Given the description of an element on the screen output the (x, y) to click on. 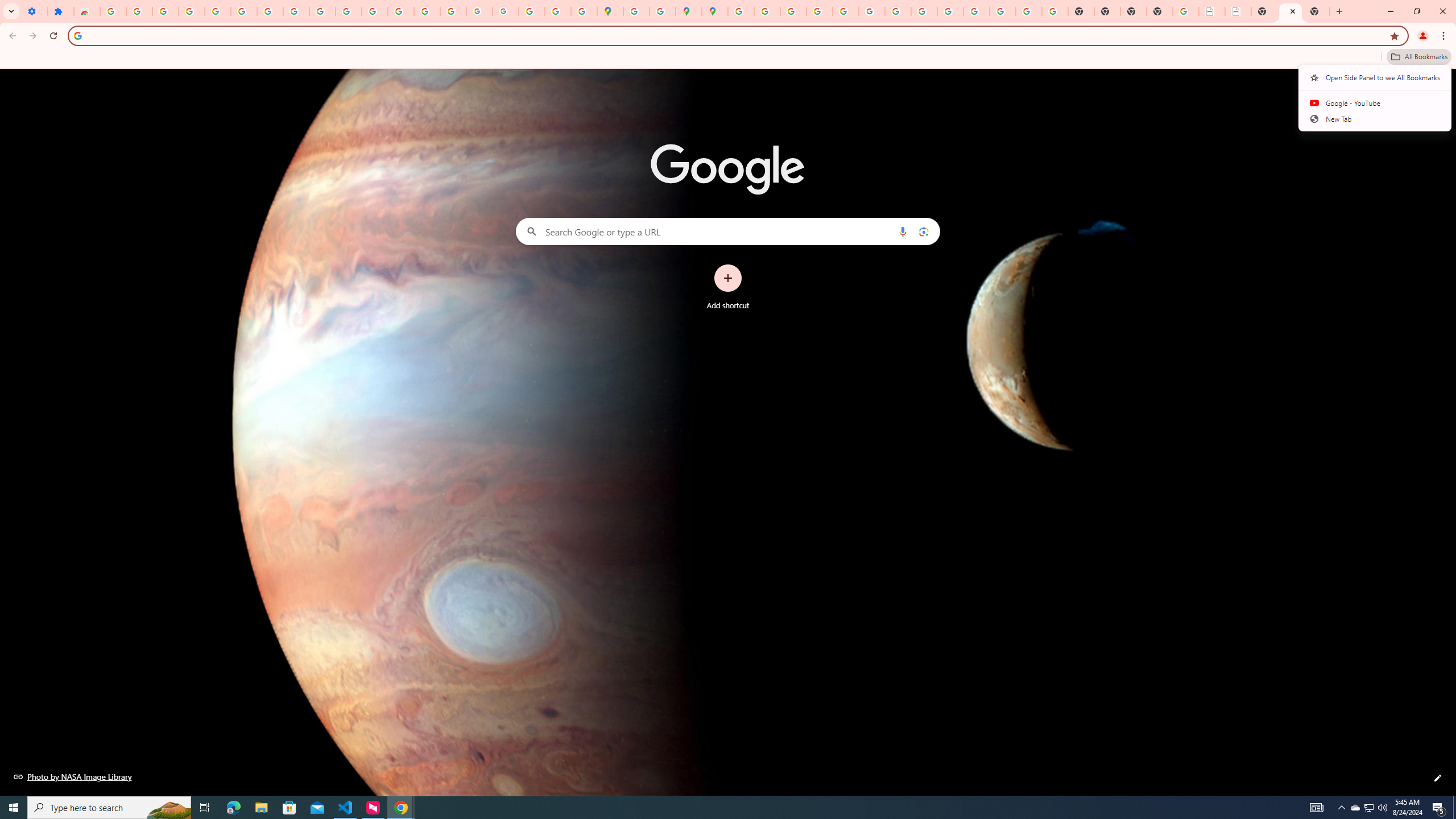
Search for Images  (1403, 87)
Sign in - Google Accounts (243, 11)
Google - YouTube (1374, 102)
